Given the description of an element on the screen output the (x, y) to click on. 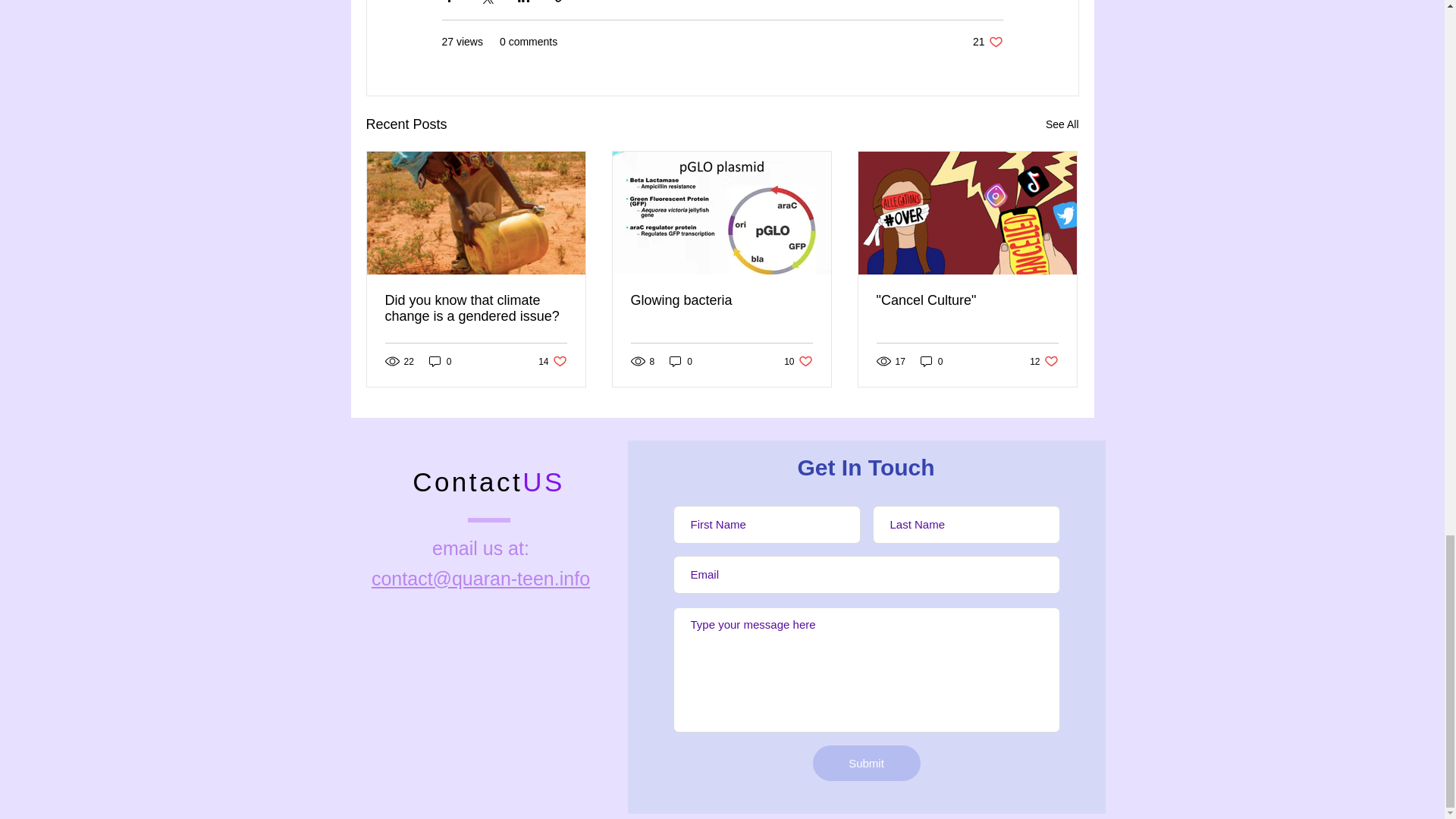
Glowing bacteria (987, 42)
0 (552, 360)
See All (721, 300)
0 (681, 360)
Did you know that climate change is a gendered issue? (1061, 124)
